Given the description of an element on the screen output the (x, y) to click on. 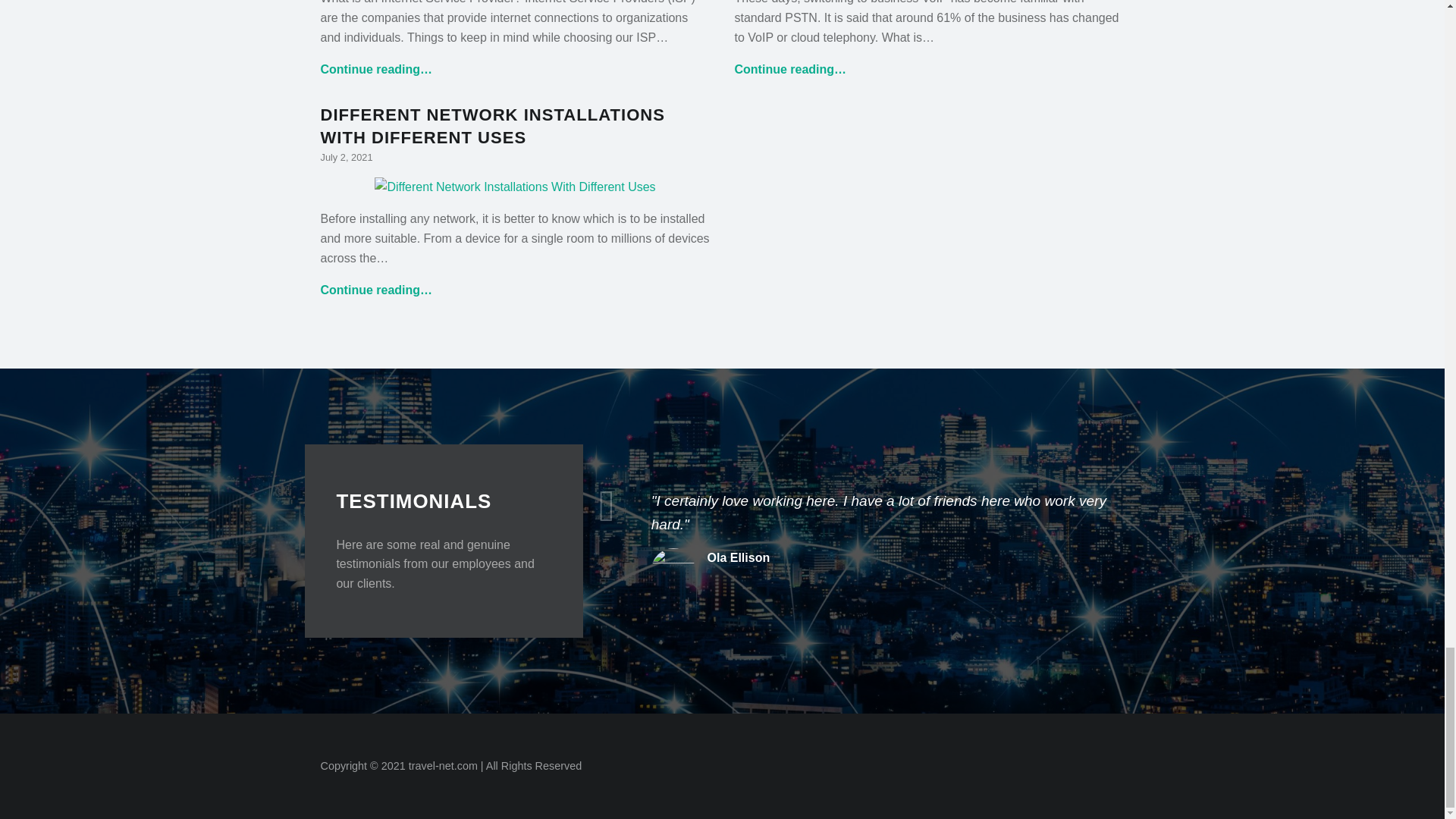
July 2, 2021 (346, 156)
DIFFERENT NETWORK INSTALLATIONS WITH DIFFERENT USES (492, 126)
